Given the description of an element on the screen output the (x, y) to click on. 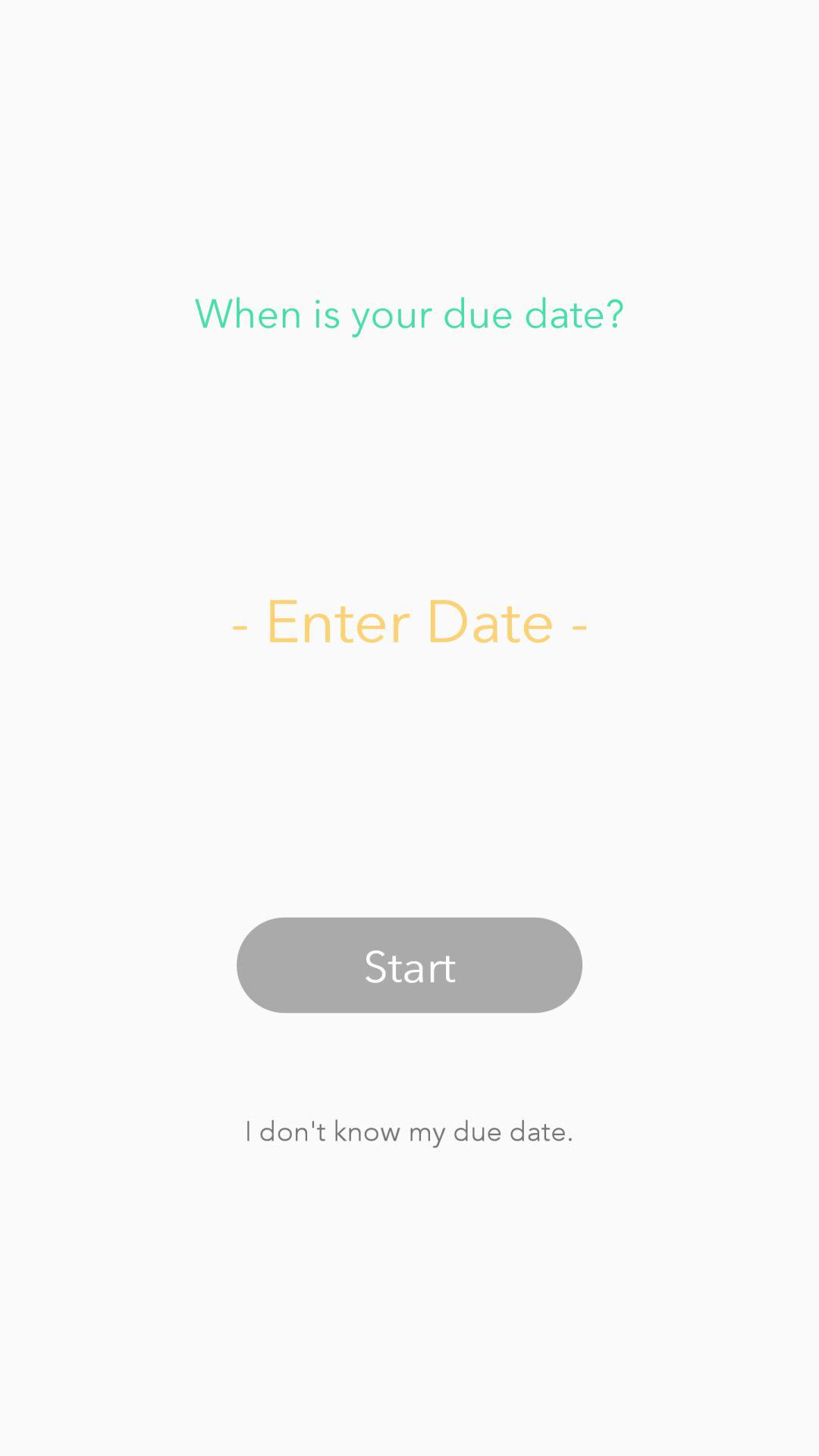
scroll until i don t (408, 1129)
